Given the description of an element on the screen output the (x, y) to click on. 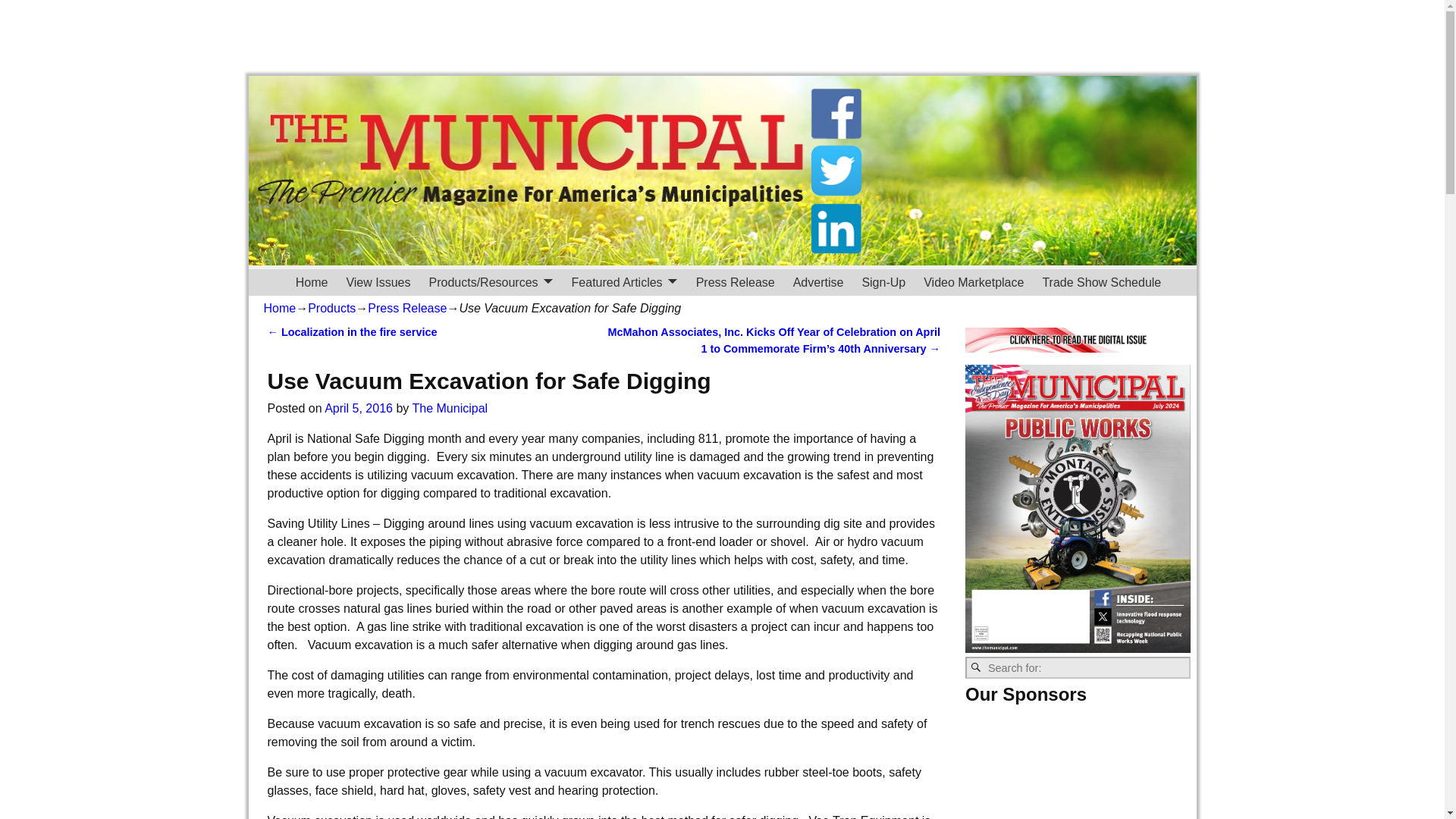
Trade Show Schedule (1101, 282)
Sign-Up (882, 282)
Advertise (818, 282)
Press Release (407, 308)
Home (311, 282)
Press Release (735, 282)
12:57 pm (358, 408)
View Issues (377, 282)
April 5, 2016 (358, 408)
Featured Articles (624, 282)
View all posts by The Municipal (449, 408)
3rd party ad content (1035, 169)
Video Marketplace (973, 282)
Products (331, 308)
3rd party ad content (721, 38)
